Given the description of an element on the screen output the (x, y) to click on. 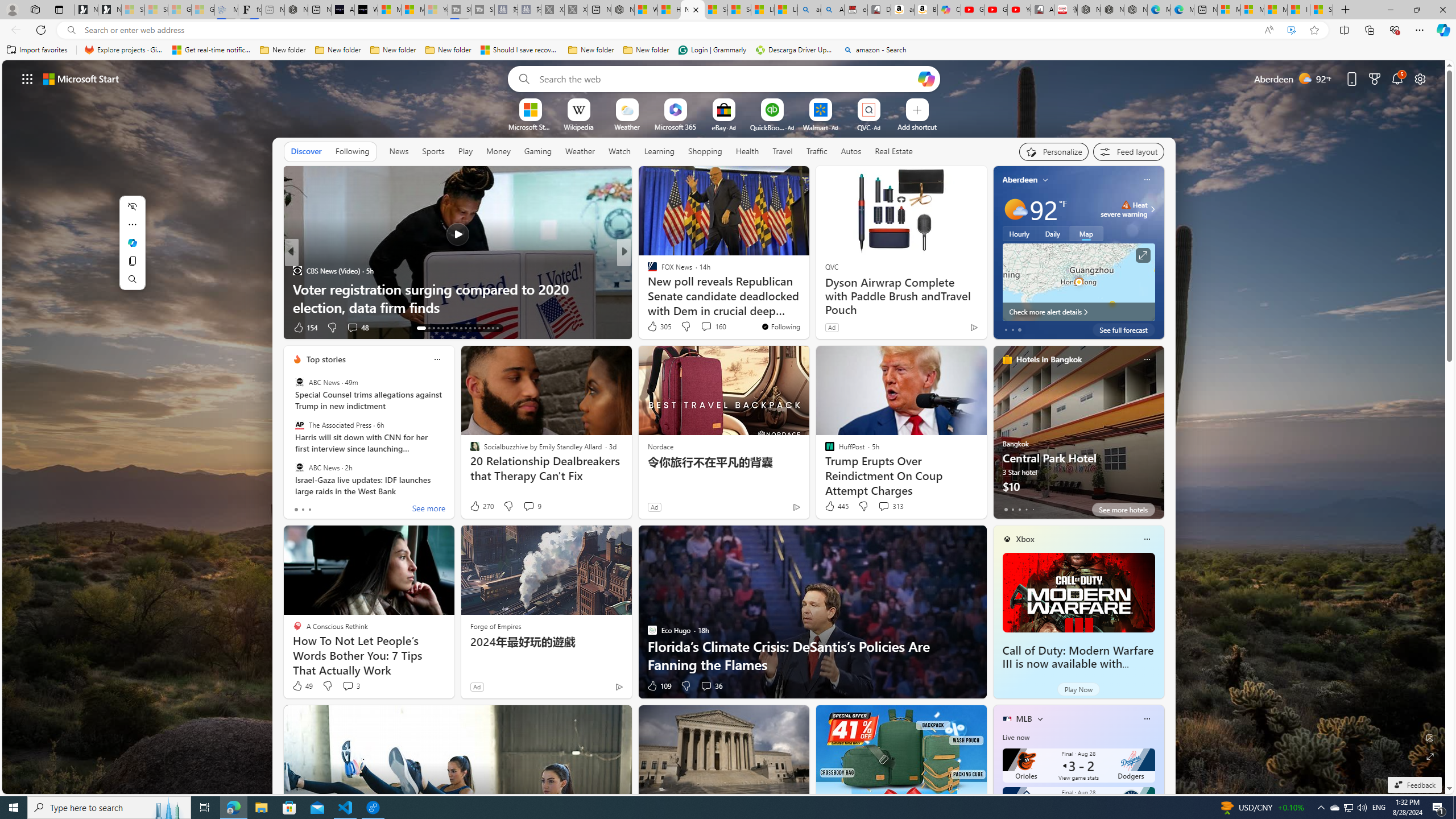
AutomationID: tab-20 (456, 328)
AI Voice Changer for PC and Mac - Voice.ai (342, 9)
38 Like (652, 327)
Open Copilot (926, 78)
Click to see more information (1142, 255)
386 Like (654, 327)
Following (352, 151)
View comments 1k Comment (703, 327)
AutomationID: tab-41 (488, 328)
Start the conversation (703, 327)
AutomationID: tab-19 (451, 328)
QVC (831, 266)
Watch (619, 151)
445 Like (835, 505)
